Given the description of an element on the screen output the (x, y) to click on. 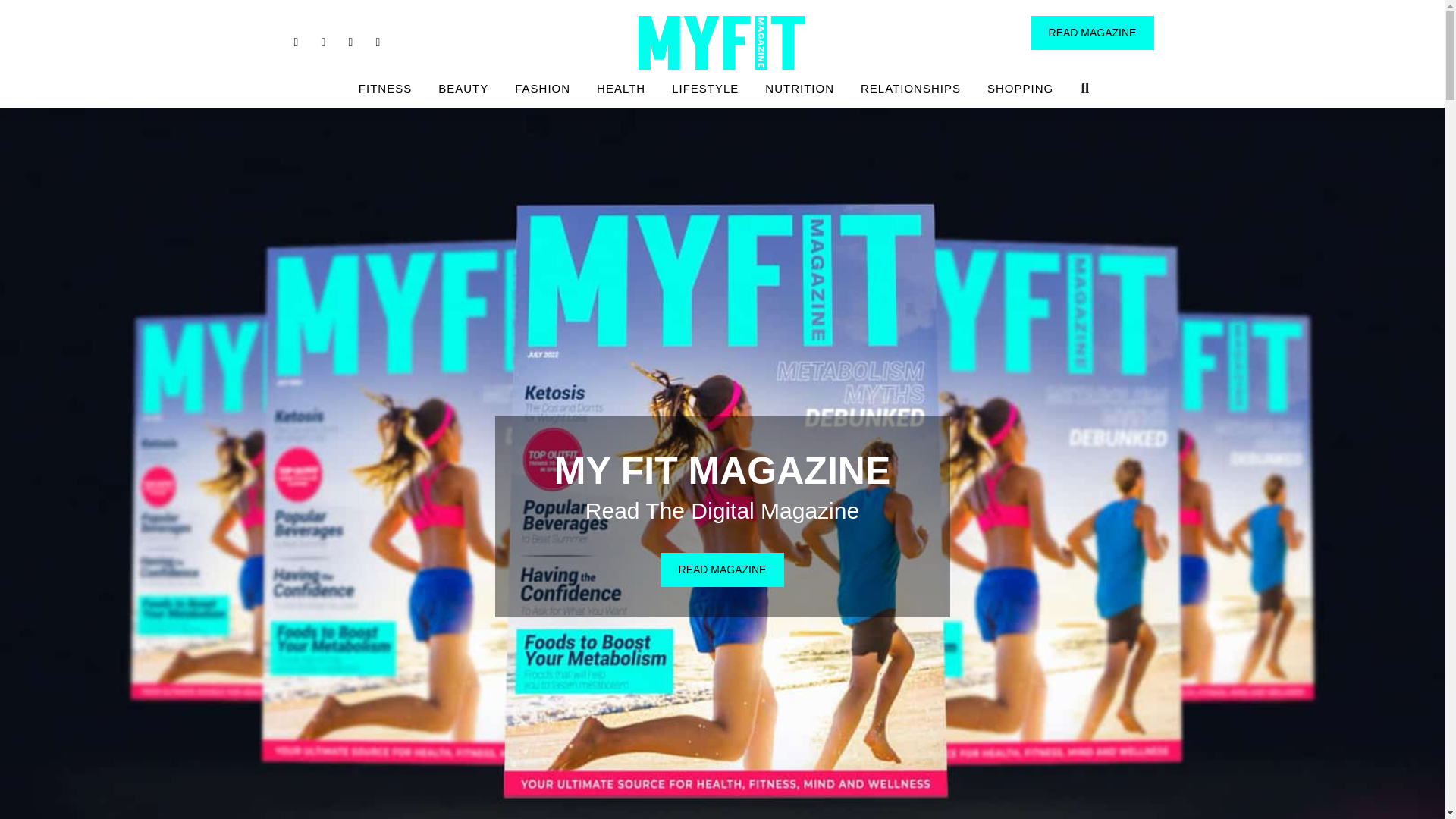
RELATIONSHIPS (910, 88)
FASHION (541, 88)
HEALTH (620, 88)
BEAUTY (462, 88)
SHOPPING (1019, 88)
FITNESS (385, 88)
READ MAGAZINE (1092, 32)
NUTRITION (799, 88)
LIFESTYLE (705, 88)
